Given the description of an element on the screen output the (x, y) to click on. 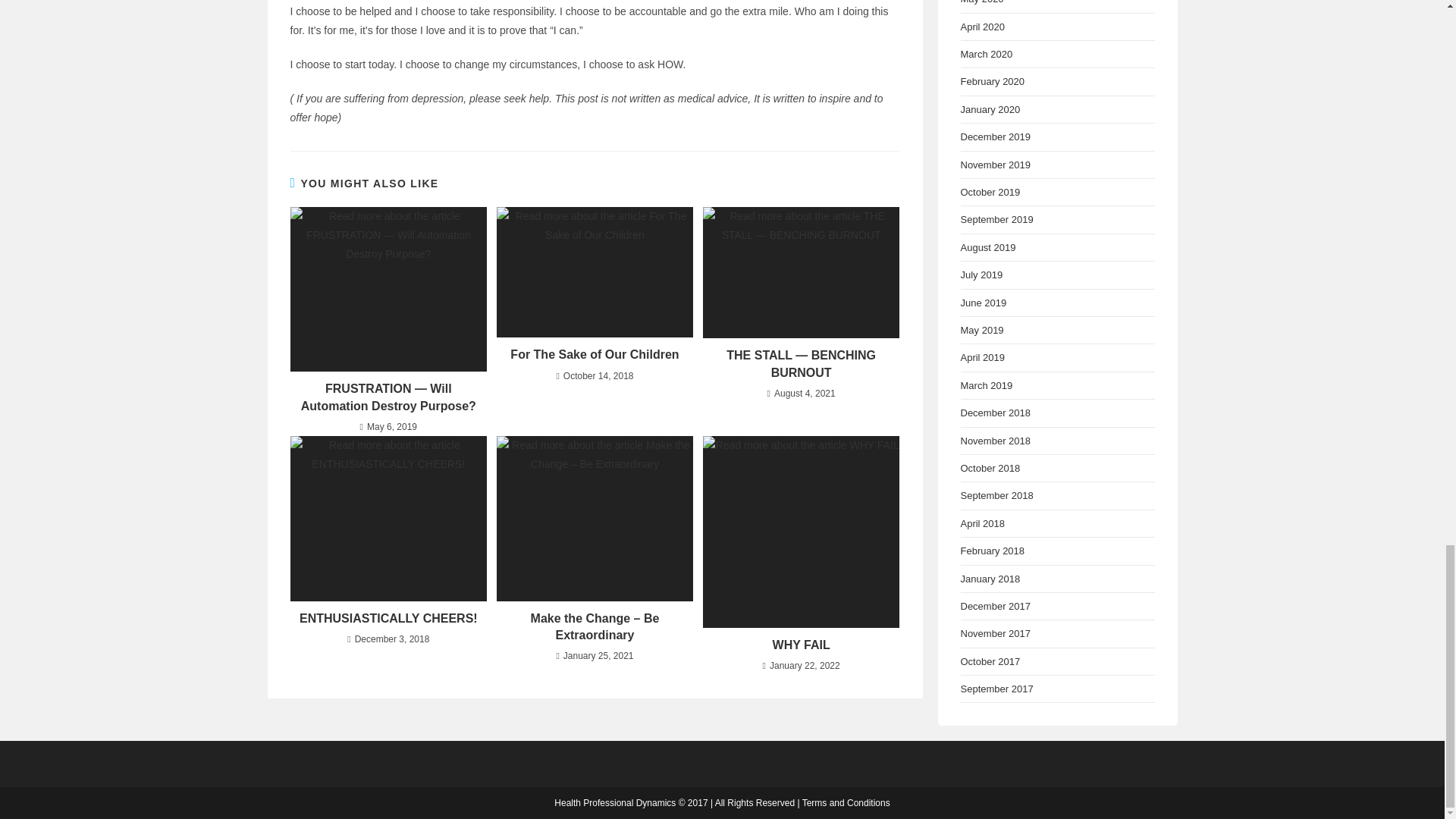
WHY FAIL (801, 645)
ENTHUSIASTICALLY CHEERS! (387, 617)
For The Sake of Our Children (594, 354)
